Given the description of an element on the screen output the (x, y) to click on. 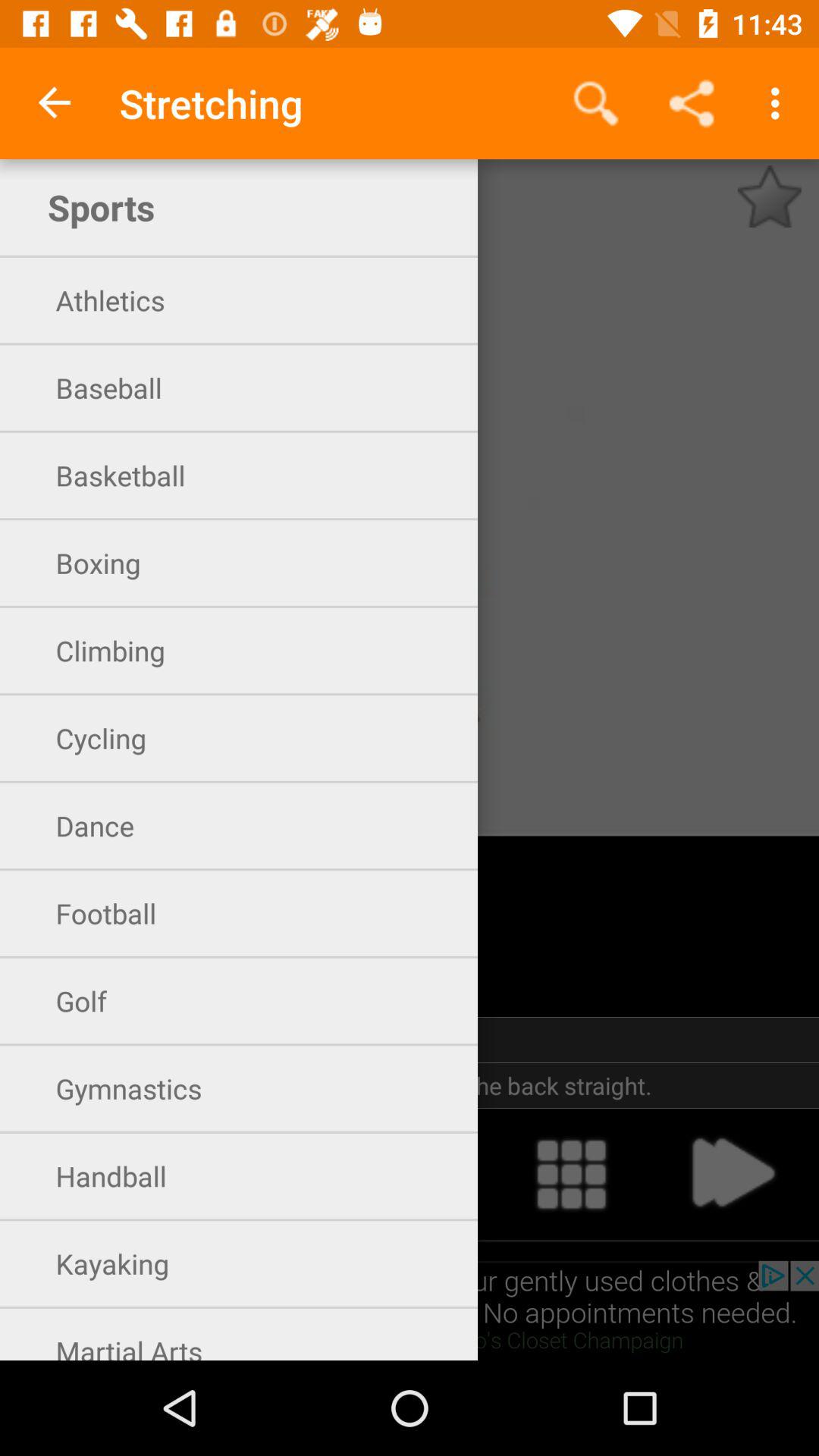
turn on item above the 7/16 item (55, 103)
